Given the description of an element on the screen output the (x, y) to click on. 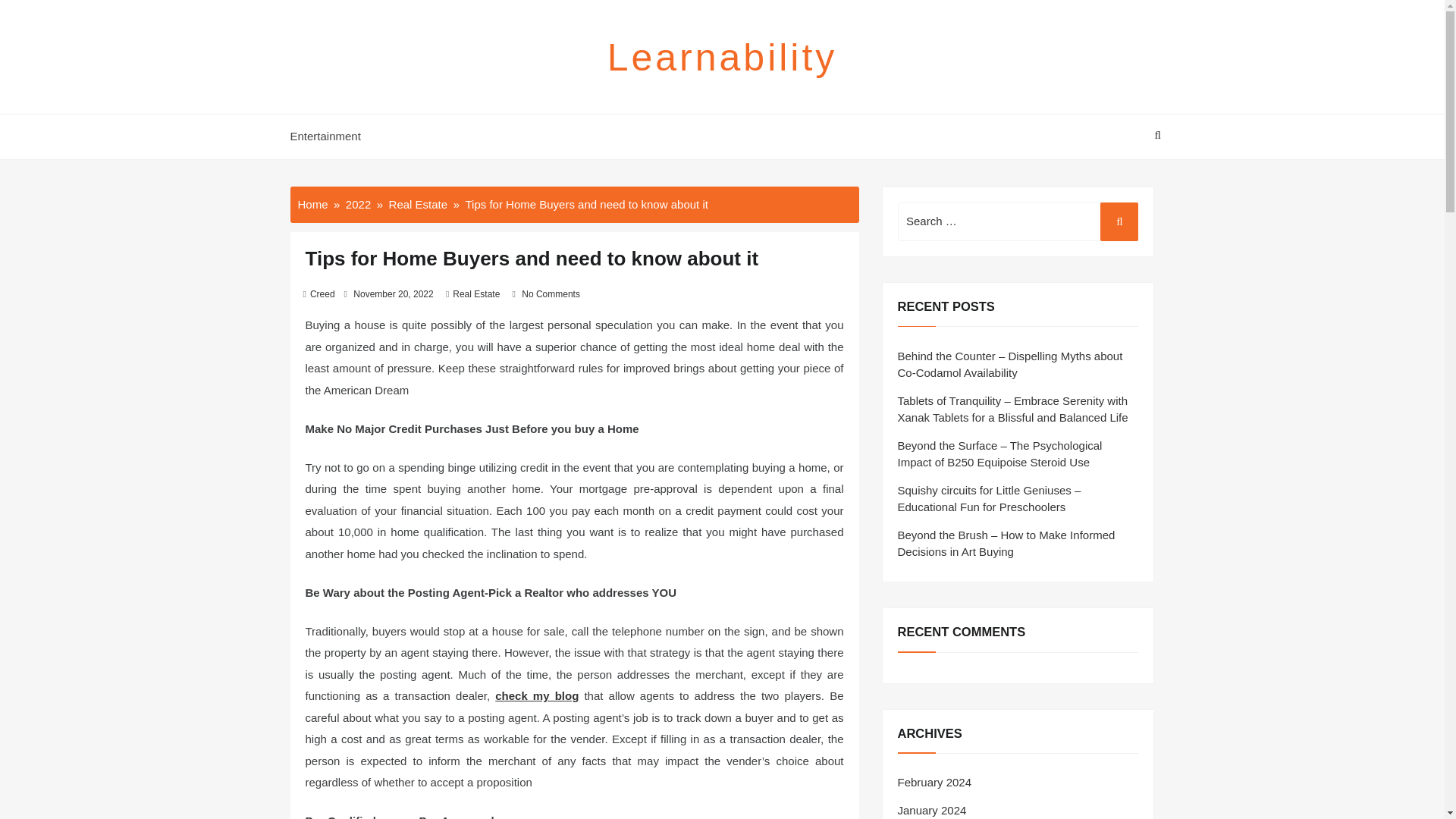
No Comments (550, 294)
Real Estate (475, 294)
Creed (322, 294)
Real Estate (418, 203)
check my blog (536, 695)
Learnability (722, 57)
February 2024 (935, 781)
Entertainment (328, 136)
Home (312, 203)
November 20, 2022 (392, 294)
